Given the description of an element on the screen output the (x, y) to click on. 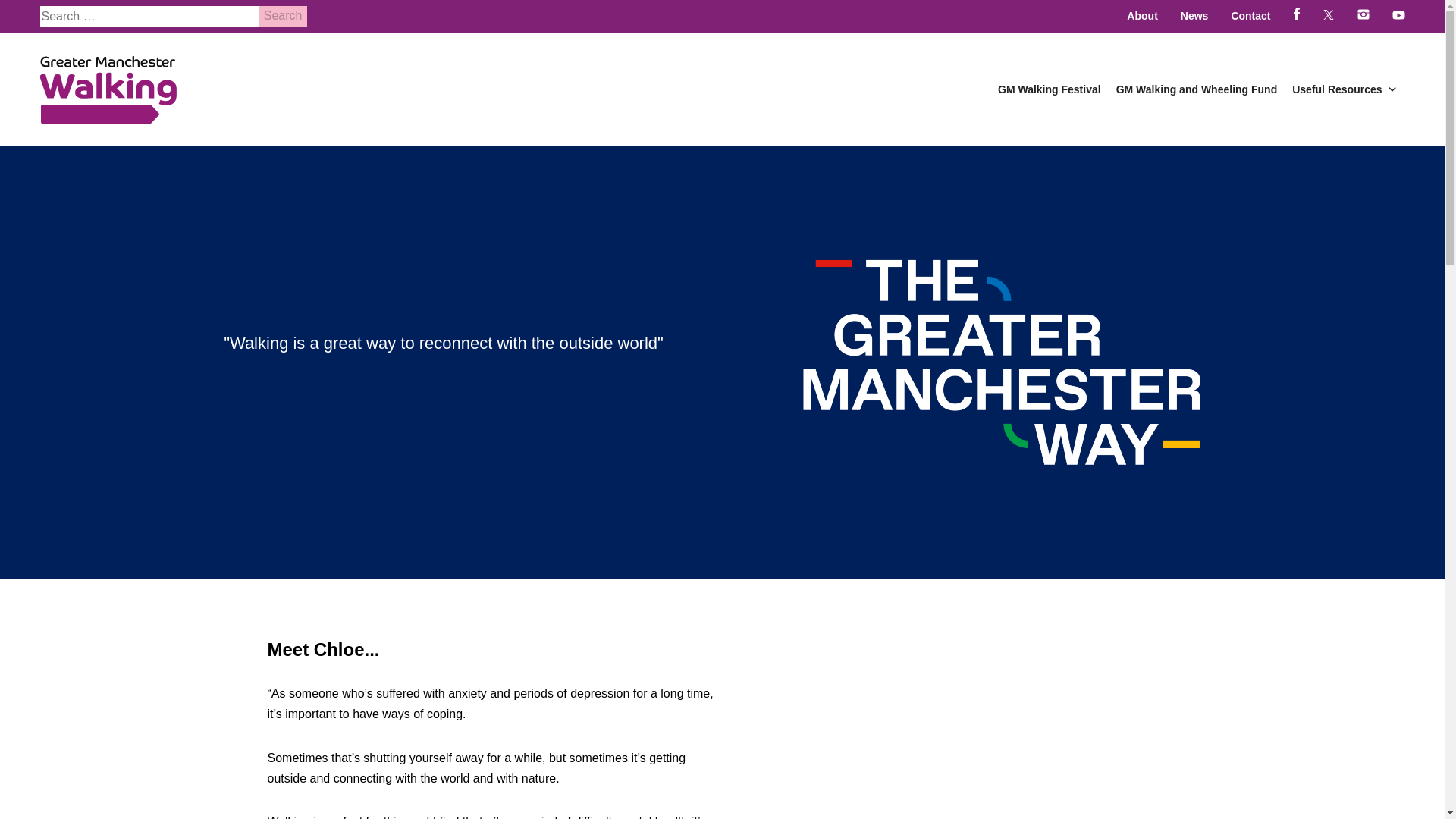
News (1194, 16)
Useful Resources (1344, 89)
About (1142, 16)
GM Walking Festival (1049, 89)
GM Walking (107, 89)
Contact (1250, 16)
Search (283, 15)
Search (283, 15)
GM Walking and Wheeling Fund (1196, 89)
Search (283, 15)
